Given the description of an element on the screen output the (x, y) to click on. 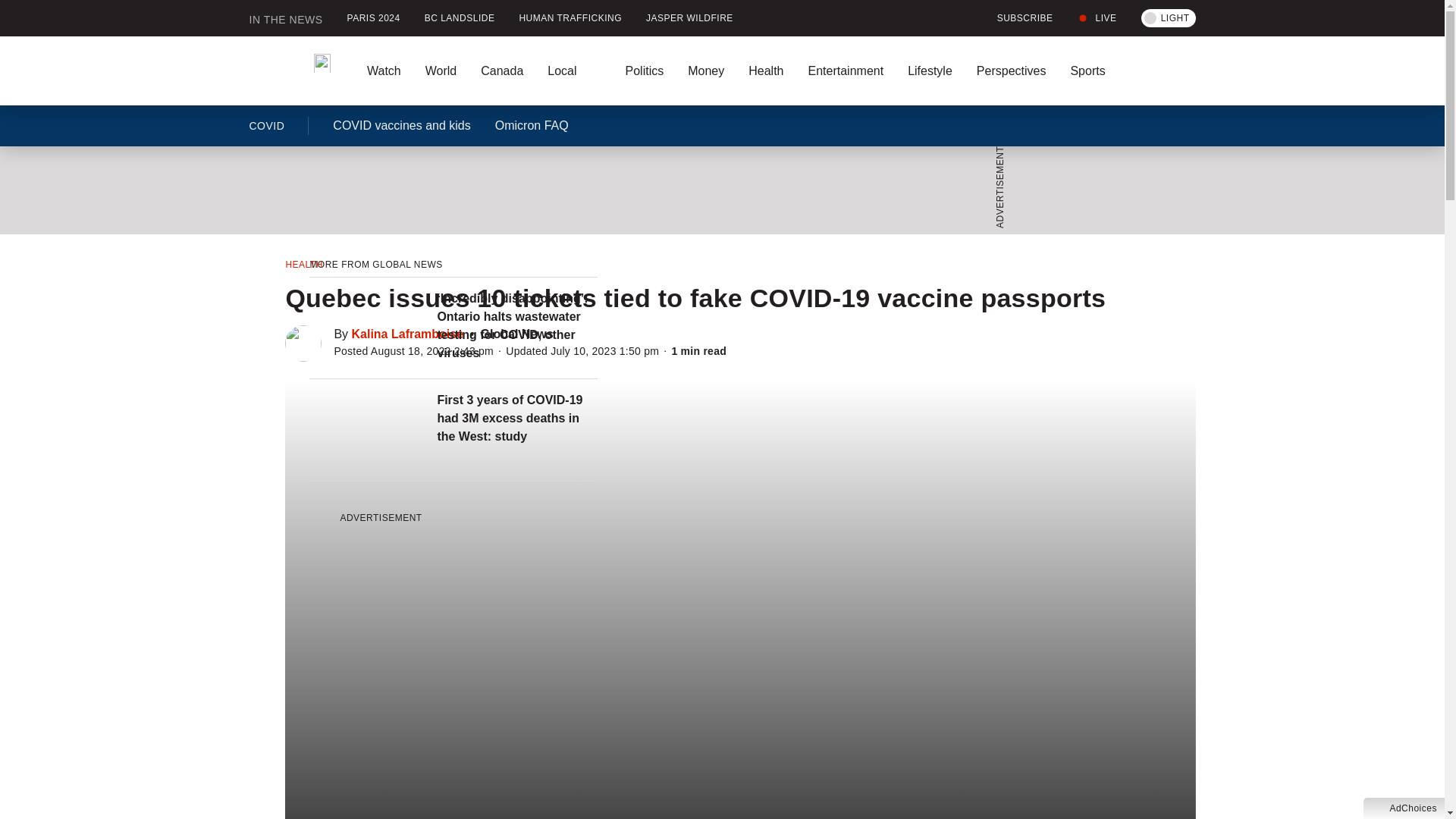
SUBSCRIBE (1015, 18)
Lifestyle (929, 70)
LIVE (1096, 18)
HUMAN TRAFFICKING (569, 18)
Politics (643, 70)
Local (573, 70)
Perspectives (1010, 70)
PARIS 2024 (373, 18)
Entertainment (844, 70)
GlobalNews home (289, 70)
Canada (501, 70)
JASPER WILDFIRE (689, 18)
Posts by Kalina Laframboise (408, 334)
BC LANDSLIDE (459, 18)
